Given the description of an element on the screen output the (x, y) to click on. 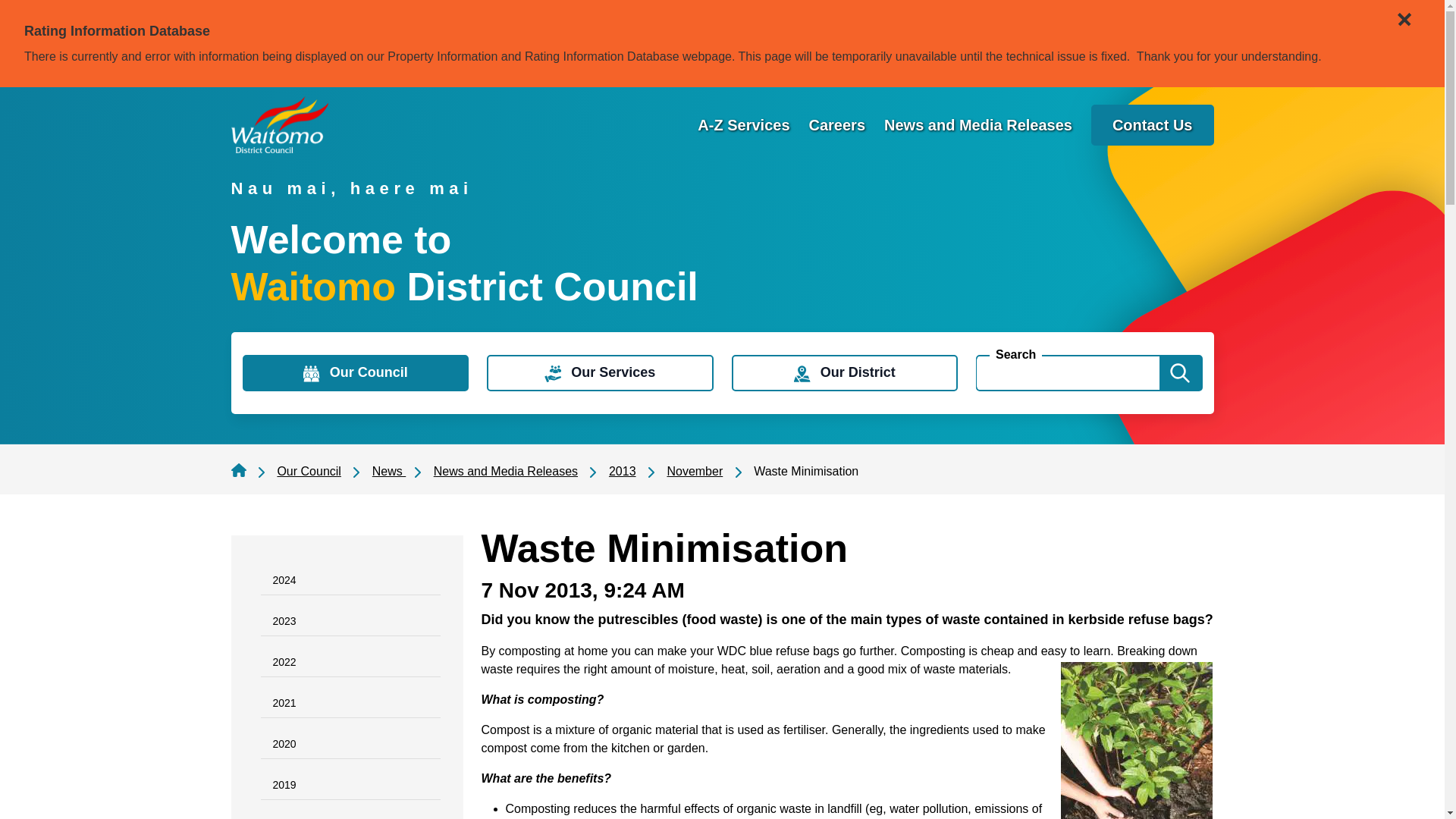
Contact Us (1152, 124)
Open Notification (1401, 12)
Composting at home (1135, 740)
Home (278, 123)
Careers (837, 124)
News and Media Releases (977, 124)
A-Z Services (743, 124)
Our Council (355, 372)
Our Services (599, 372)
